Given the description of an element on the screen output the (x, y) to click on. 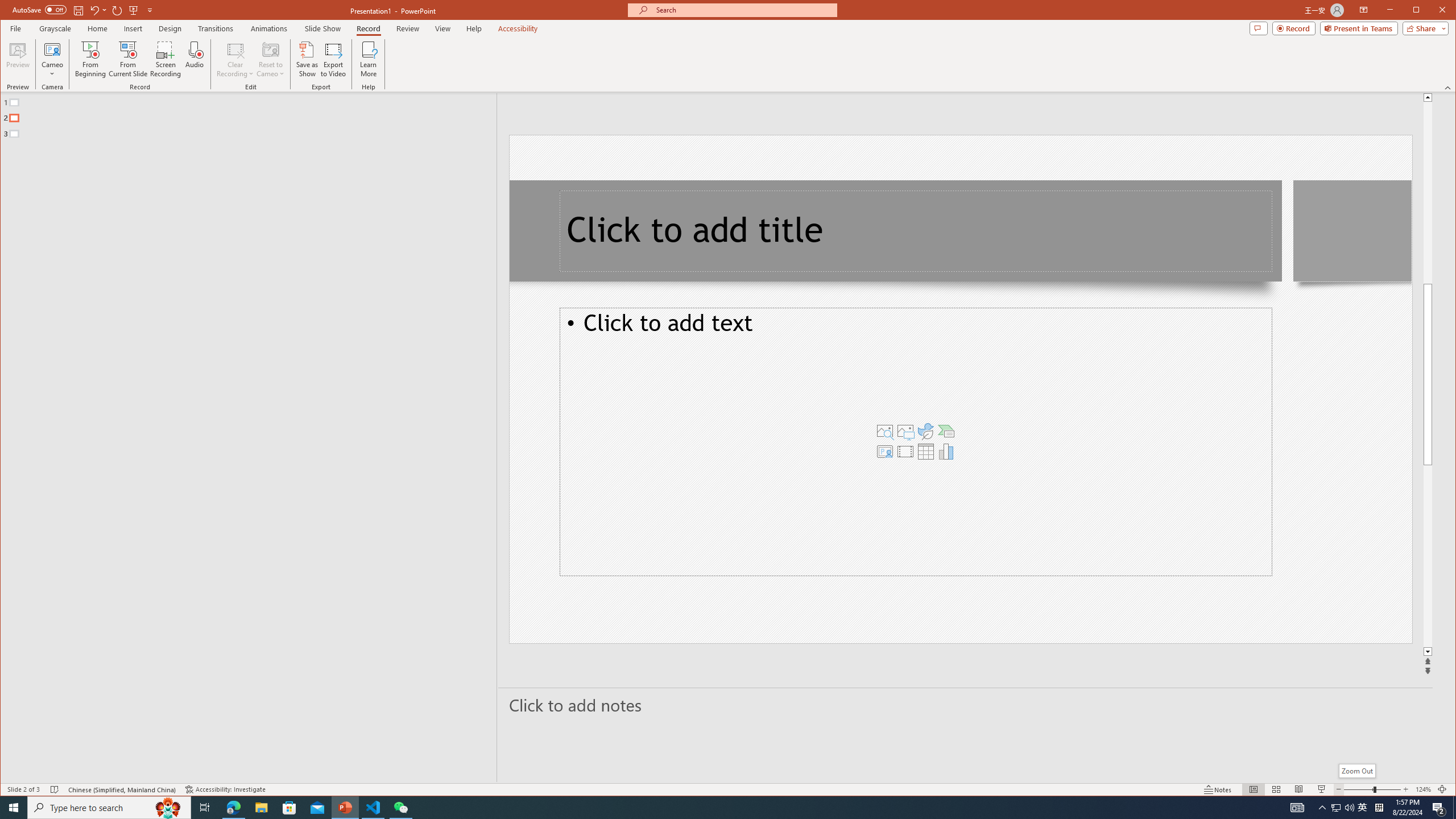
Running applications (707, 807)
